Given the description of an element on the screen output the (x, y) to click on. 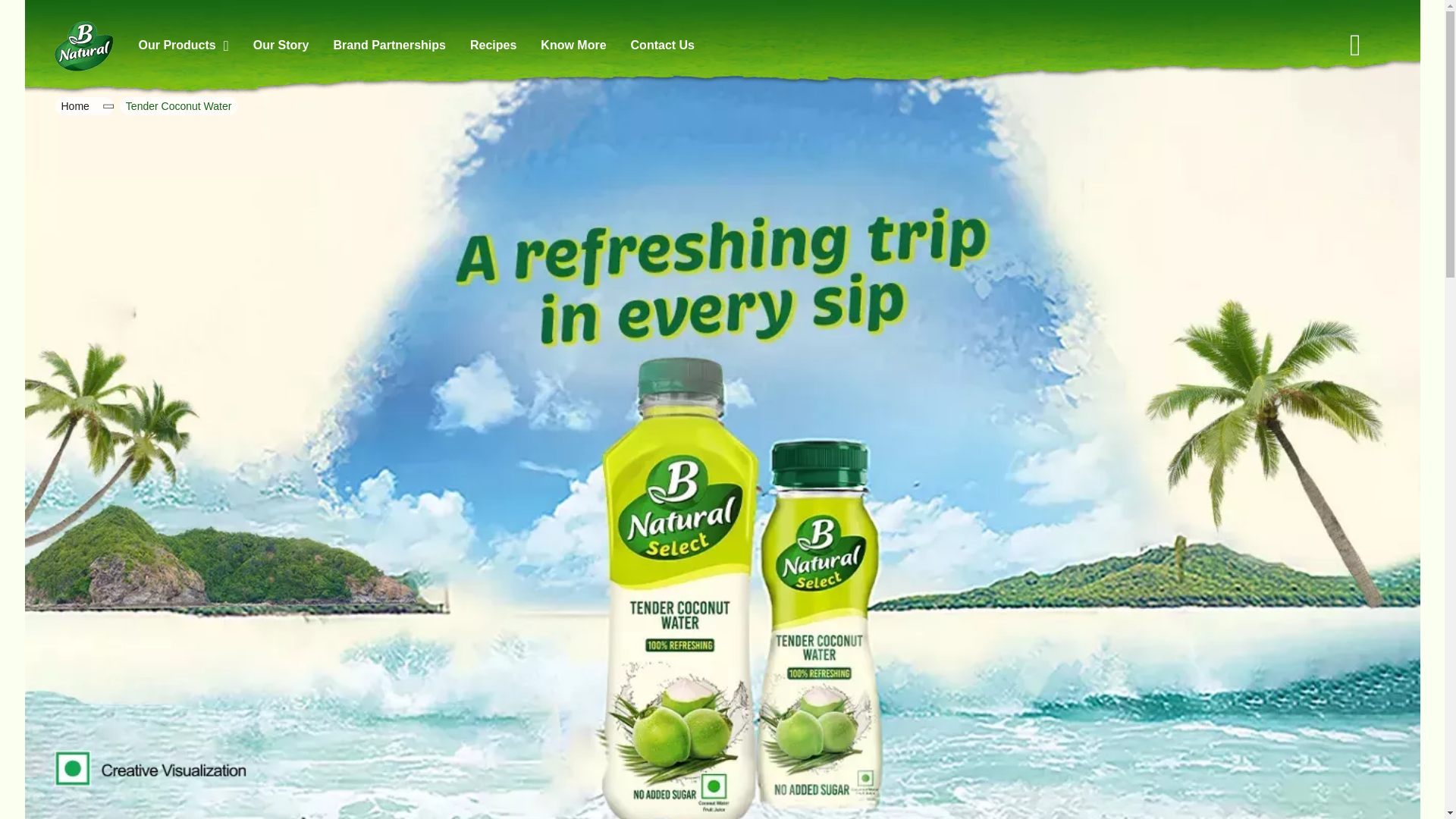
Home (74, 106)
Contact Us (662, 44)
Our Products (183, 44)
Brand Partnerships (389, 44)
Recipes (493, 44)
Our Story (280, 44)
Know More (572, 44)
